Given the description of an element on the screen output the (x, y) to click on. 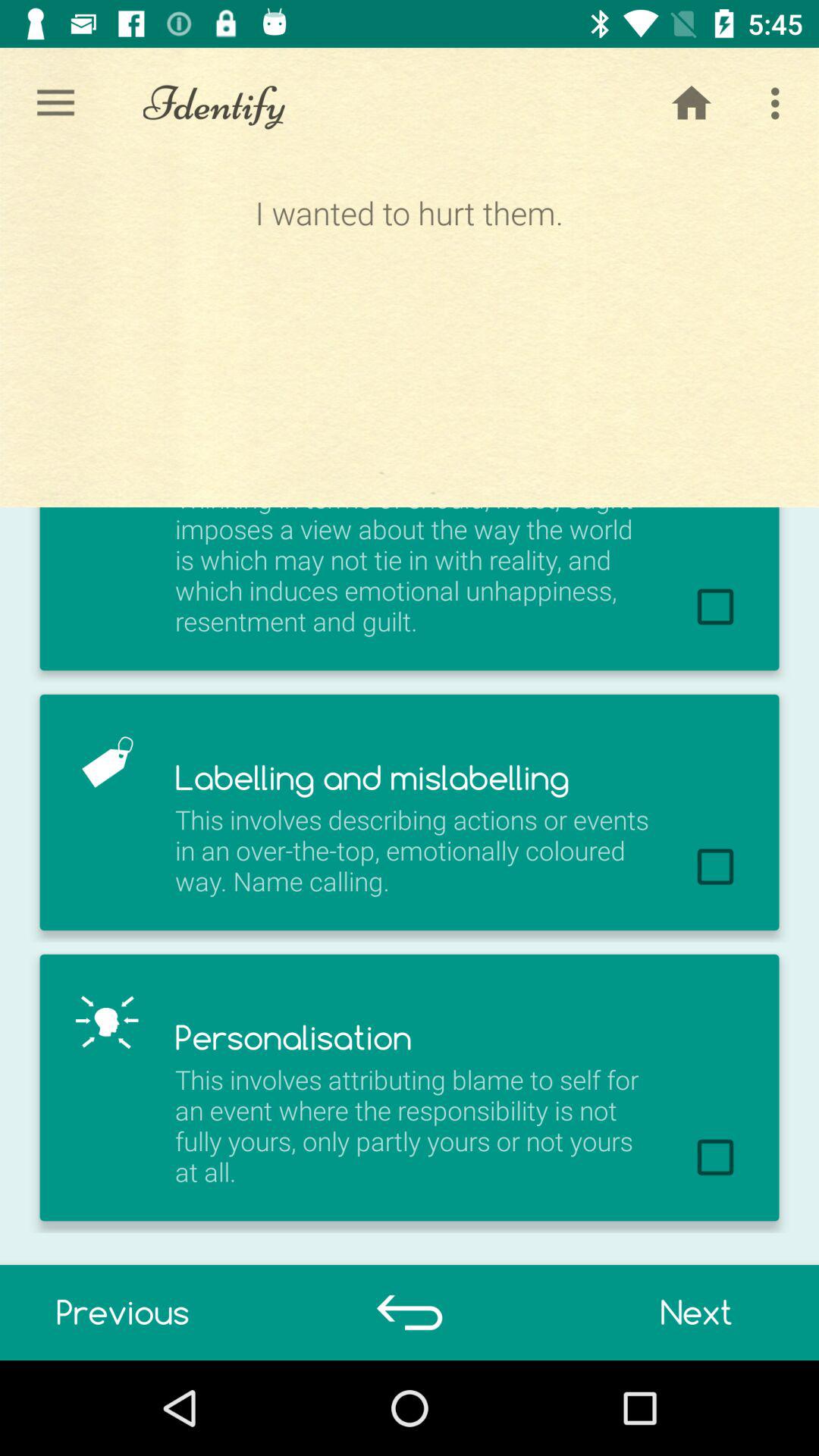
turn off the previous icon (122, 1312)
